Given the description of an element on the screen output the (x, y) to click on. 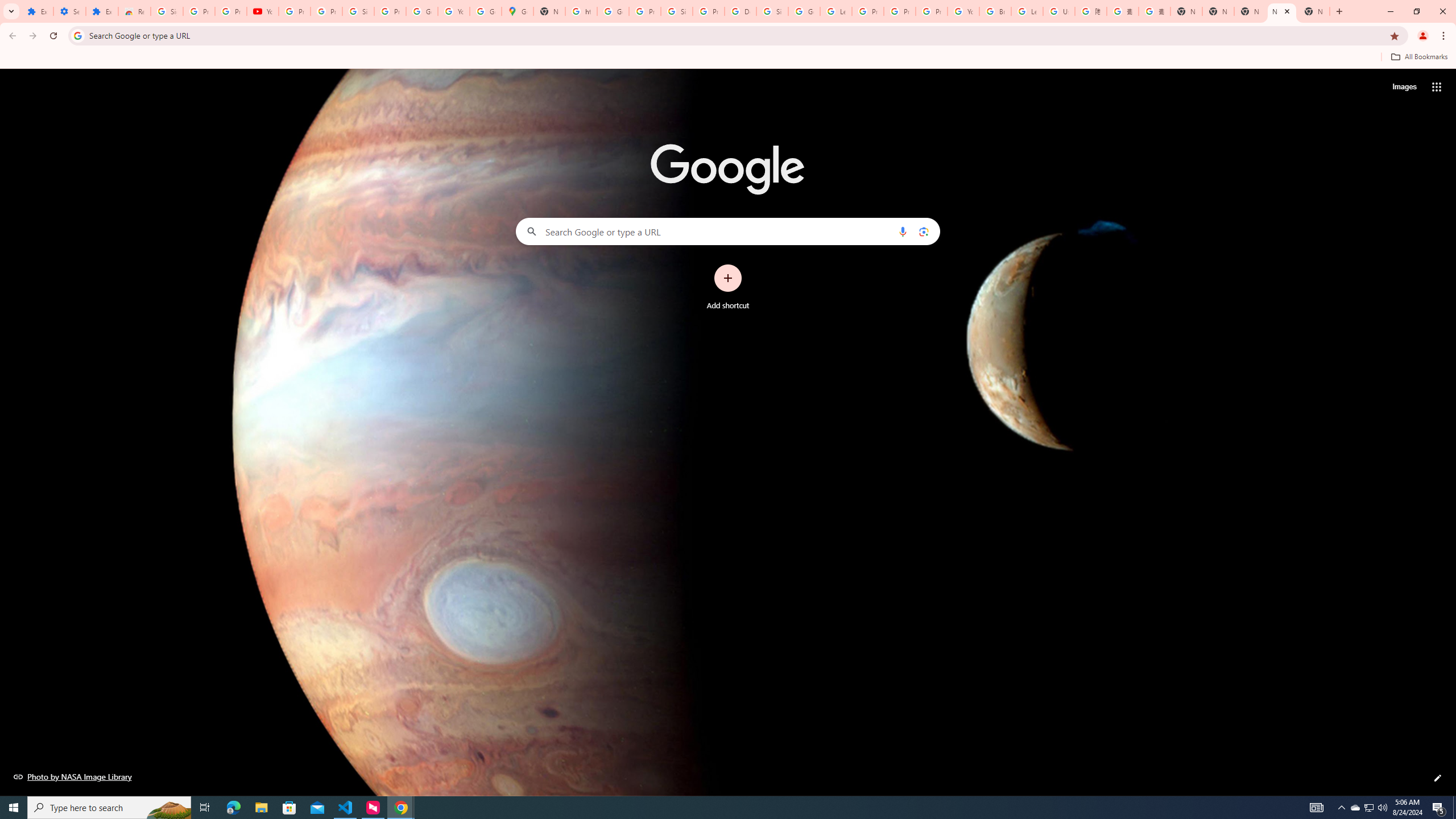
Privacy Help Center - Policies Help (868, 11)
